Given the description of an element on the screen output the (x, y) to click on. 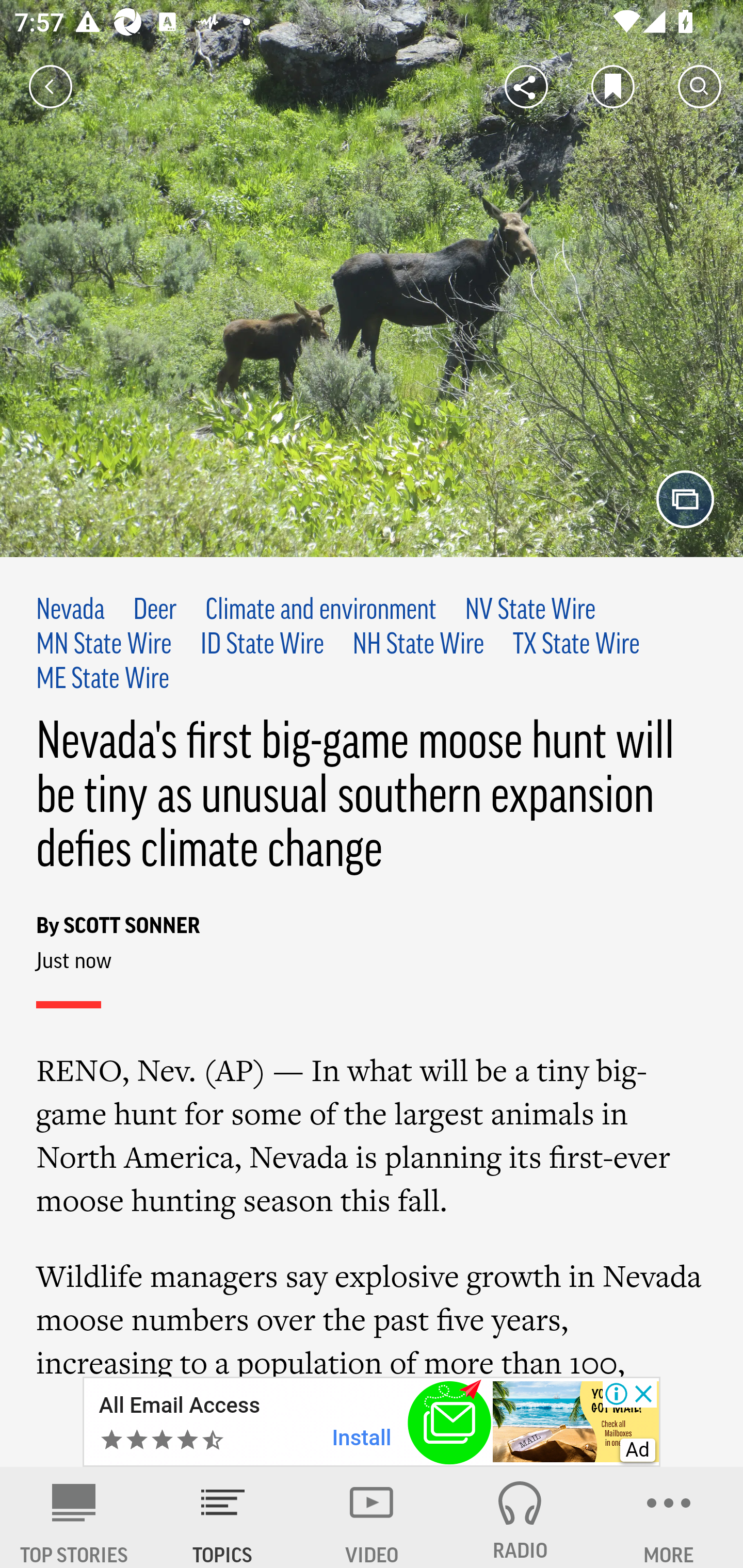
Nevada (71, 610)
Deer (154, 610)
Climate and environment (319, 610)
NV State Wire (529, 610)
MN State Wire (104, 645)
ID State Wire (261, 645)
NH State Wire (418, 645)
TX State Wire (575, 645)
ME State Wire (103, 679)
All Email Access (178, 1405)
Install (362, 1437)
AP News TOP STORIES (74, 1517)
TOPICS (222, 1517)
VIDEO (371, 1517)
RADIO (519, 1517)
MORE (668, 1517)
